Given the description of an element on the screen output the (x, y) to click on. 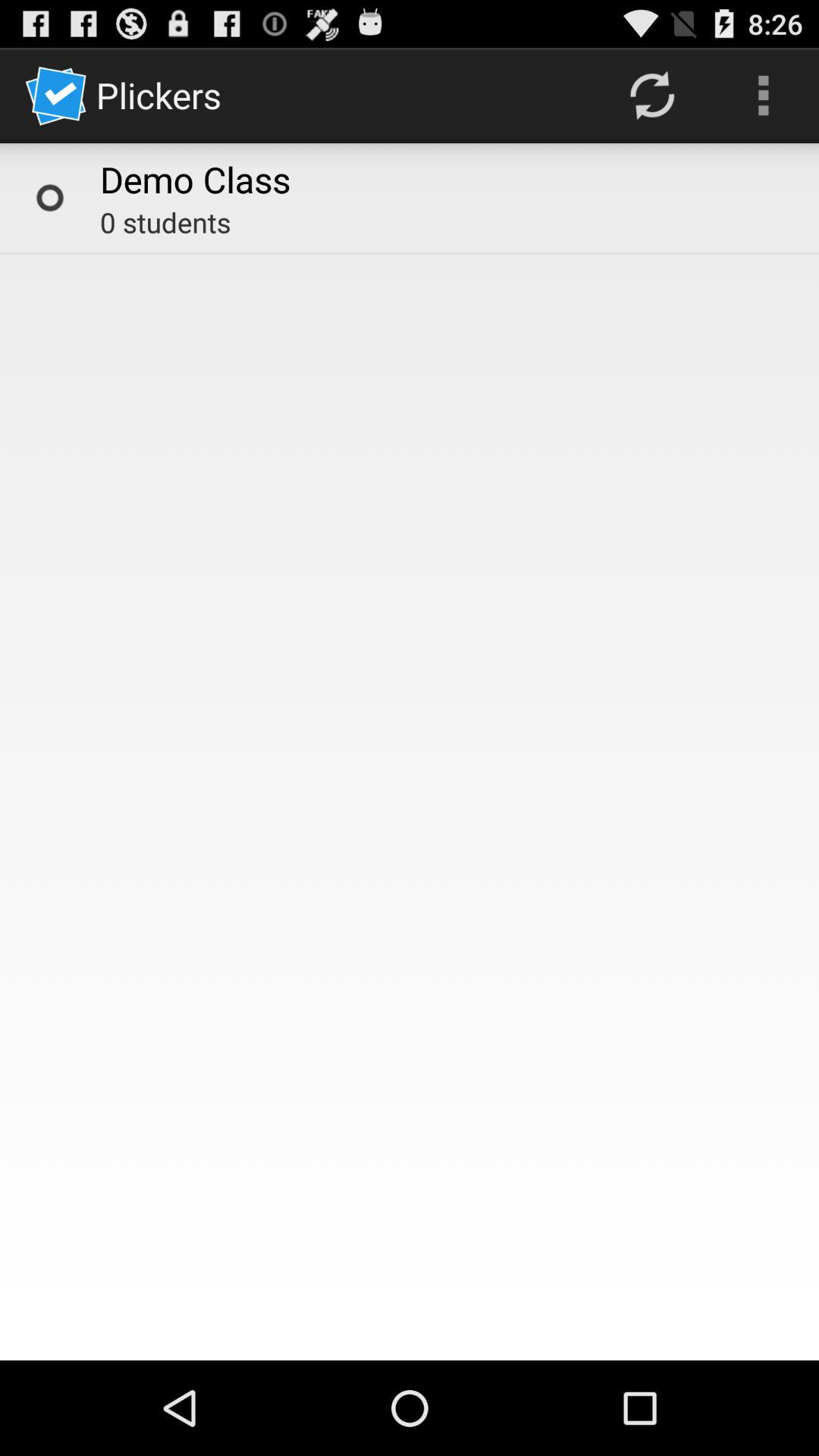
select the app next to demo class icon (49, 197)
